Given the description of an element on the screen output the (x, y) to click on. 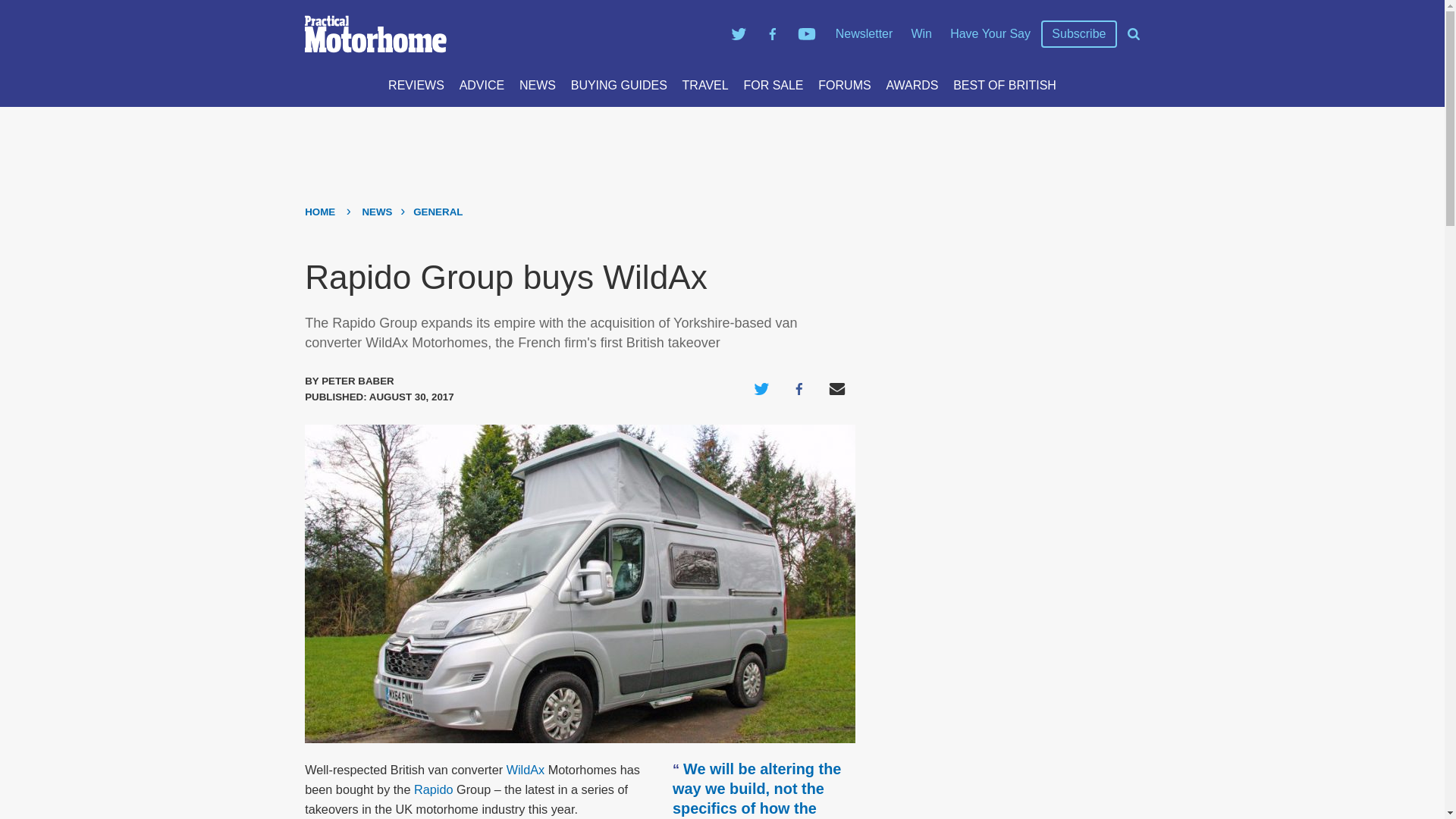
Share on Twitter (761, 388)
Share via Email (837, 388)
Subscribe (1078, 34)
logoCreated with Sketch. (375, 34)
Have Your Say (990, 33)
logoCreated with Sketch. (509, 34)
Win (921, 33)
ADVICE (482, 84)
REVIEWS (416, 84)
NEWS (537, 84)
Newsletter (863, 33)
BUYING GUIDES (618, 84)
Share on Facebook (799, 388)
